Given the description of an element on the screen output the (x, y) to click on. 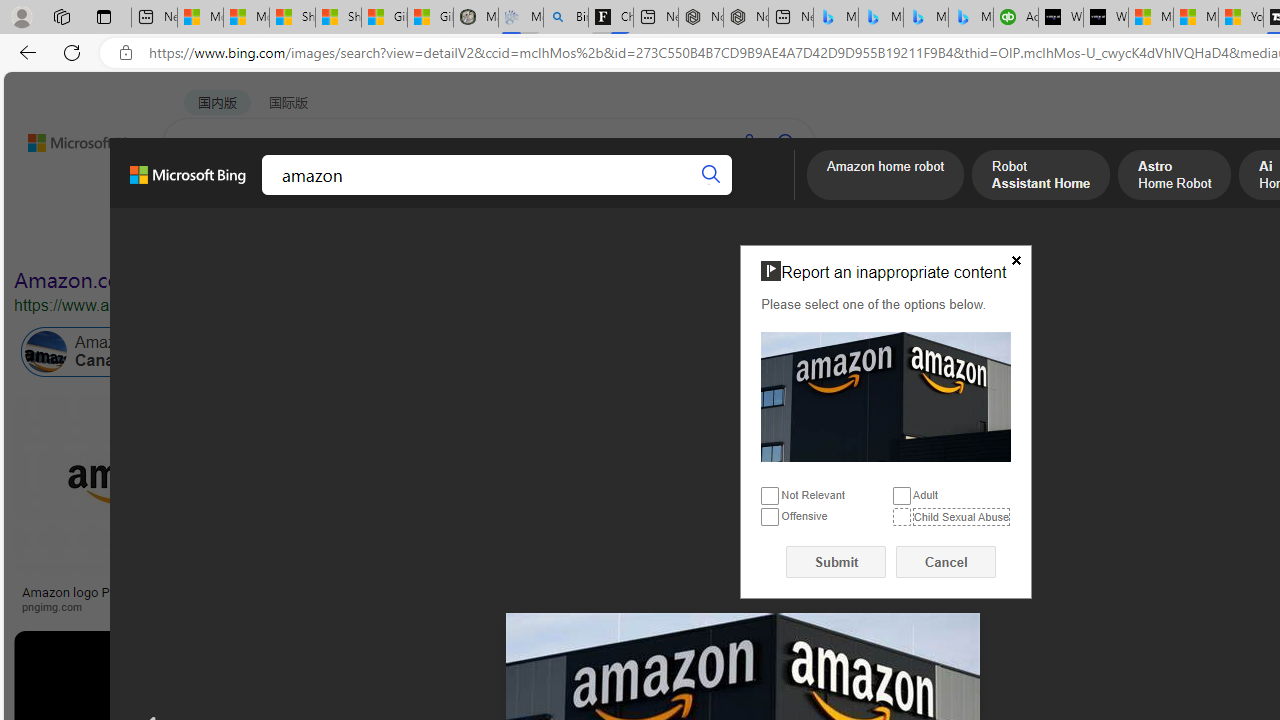
MAPS (698, 195)
Amazon Labor Law Violation in California (993, 351)
Type (373, 237)
mytotalretail.com (319, 605)
Gilma and Hector both pose tropical trouble for Hawaii (430, 17)
Date (591, 237)
Class: b_pri_nav_svg (336, 196)
Back to Bing search (73, 138)
Dropdown Menu (779, 195)
Alexa Smart Home Devices (1183, 584)
mytotalretail.com (396, 606)
Child Sexual Abuse (901, 517)
